Given the description of an element on the screen output the (x, y) to click on. 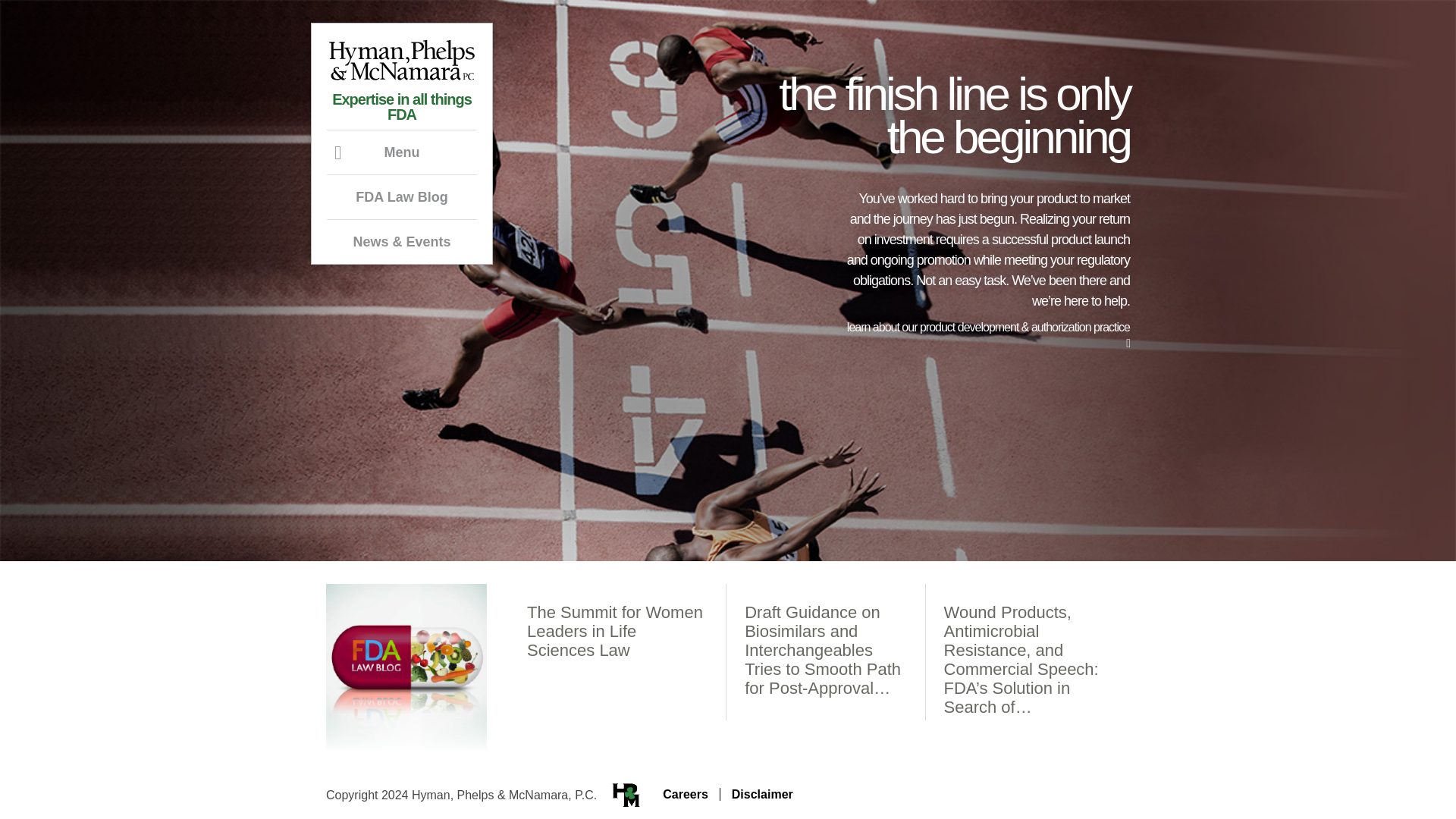
Careers (684, 793)
FDA Law Blog (401, 196)
FDA Law Blog (401, 196)
Disclaimer (762, 793)
The Summit for Women Leaders in Life Sciences Law (615, 631)
FDA Law Blog (406, 760)
The Summit for Women Leaders in Life Sciences Law (615, 631)
